Given the description of an element on the screen output the (x, y) to click on. 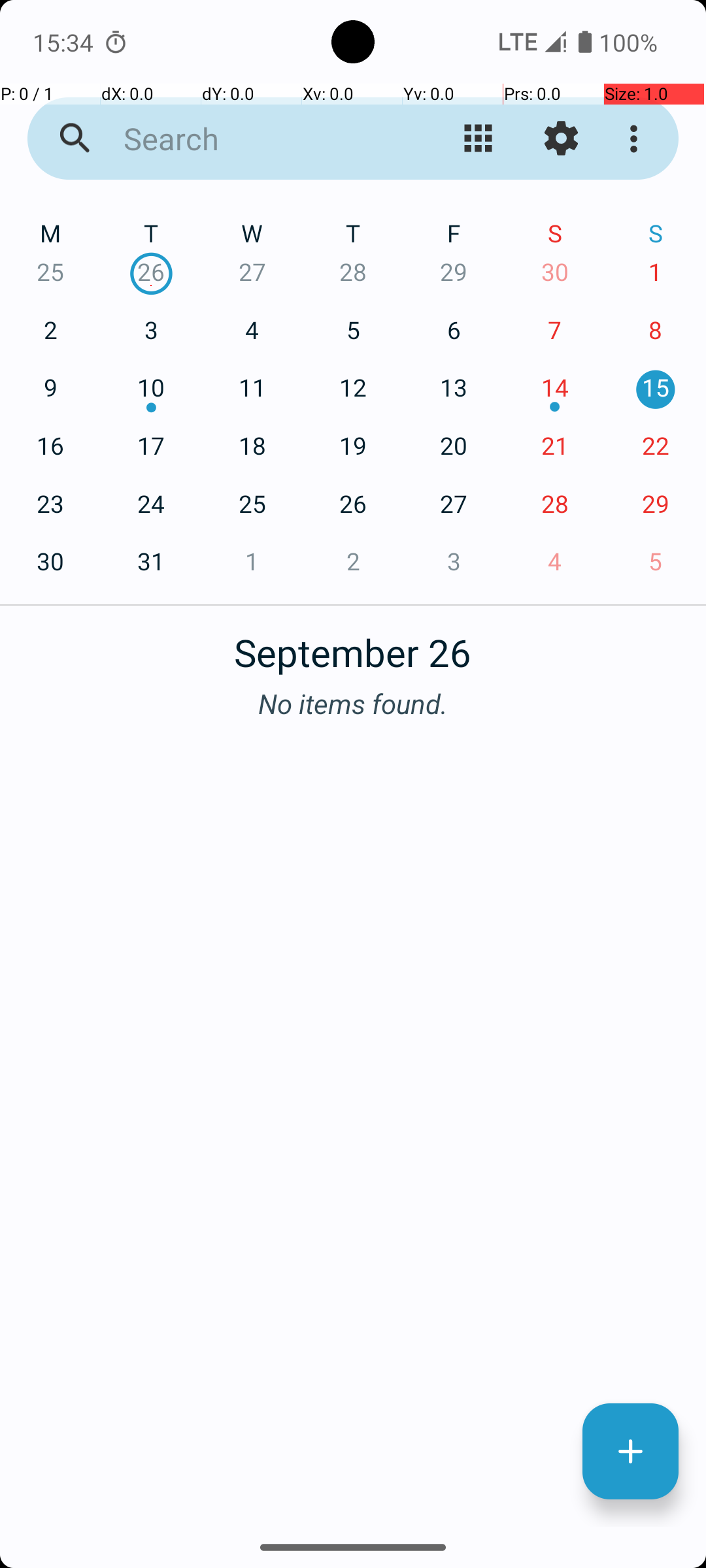
September 26 Element type: android.widget.TextView (352, 644)
